Given the description of an element on the screen output the (x, y) to click on. 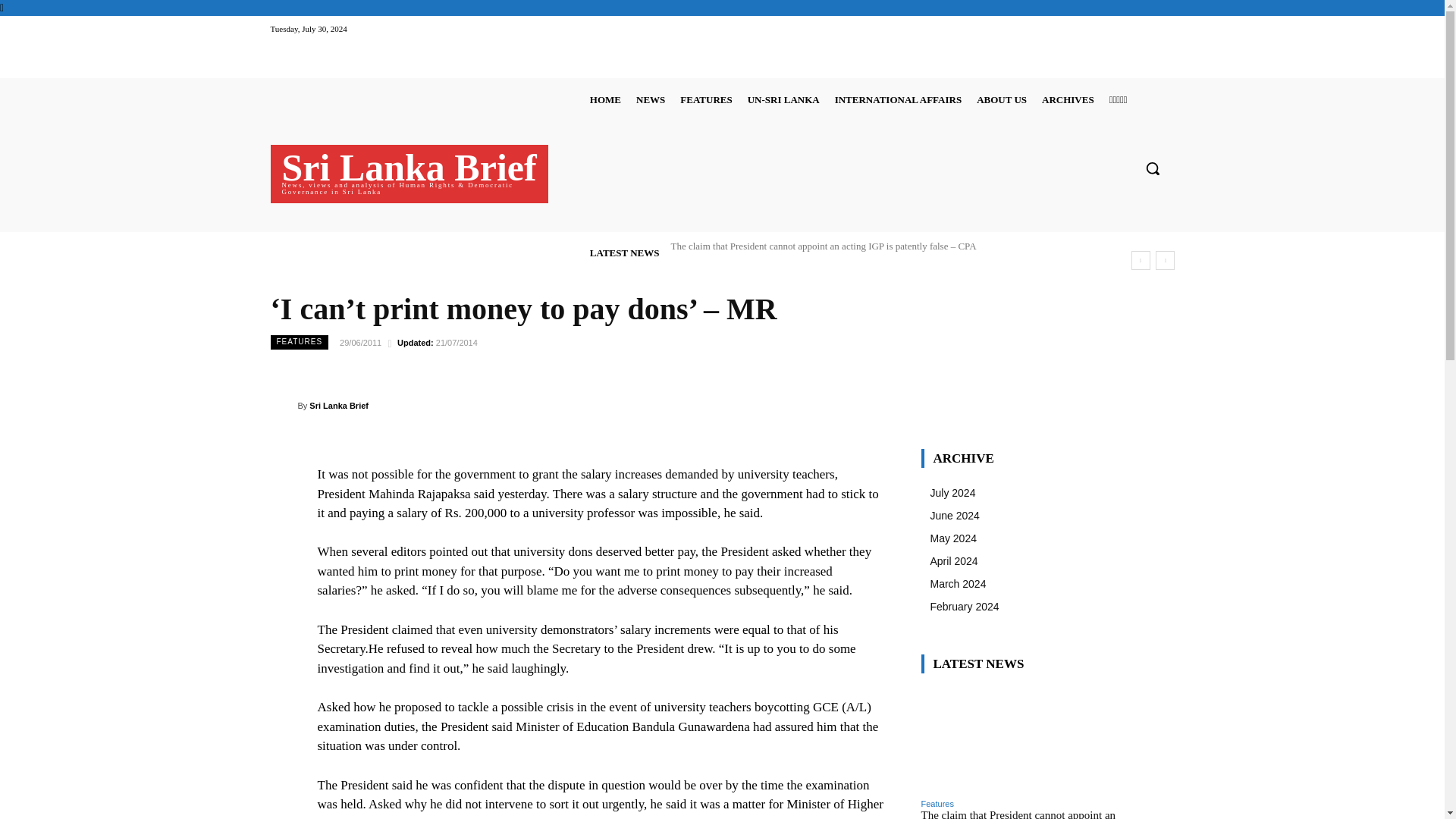
ARCHIVES (1067, 99)
FEATURES (706, 99)
INTERNATIONAL AFFAIRS (898, 99)
HOME (605, 99)
Sri Lanka Brief (283, 404)
UN-SRI LANKA (783, 99)
ABOUT US (1001, 99)
NEWS (650, 99)
